Given the description of an element on the screen output the (x, y) to click on. 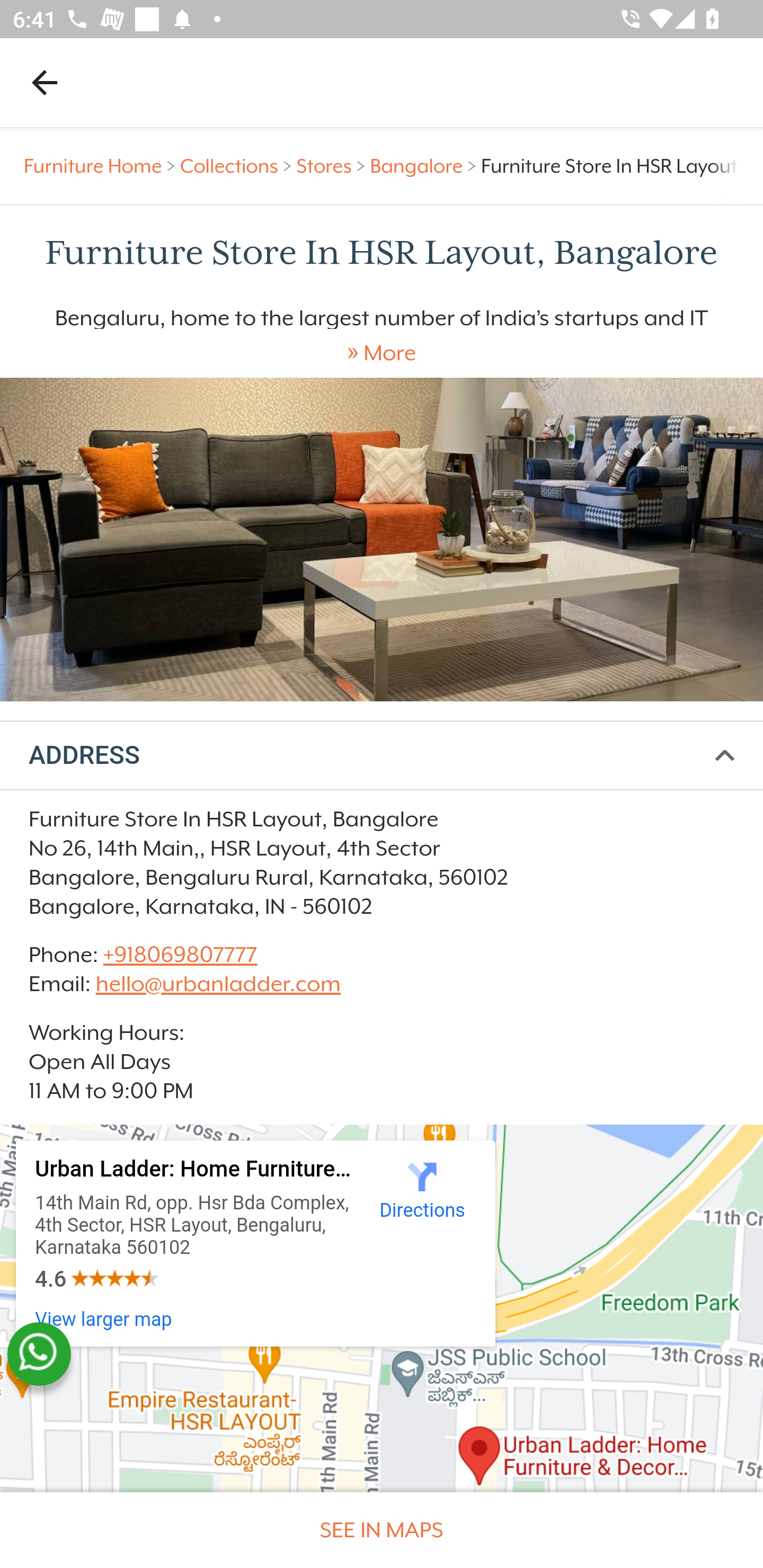
Navigate up (44, 82)
Furniture Home >  Furniture Home  >  (102, 165)
Collections >  Collections  >  (238, 165)
Stores >  Stores  >  (333, 165)
Bangalore >  Bangalore  >  (424, 165)
» More (381, 353)
Experience Centre (381, 539)
ADDRESS (381, 756)
+918069807777 (179, 953)
hello@urbanladder.com (218, 983)
View larger map (104, 1319)
whatsapp (38, 1353)
SEE IN MAPS (381, 1530)
